Given the description of an element on the screen output the (x, y) to click on. 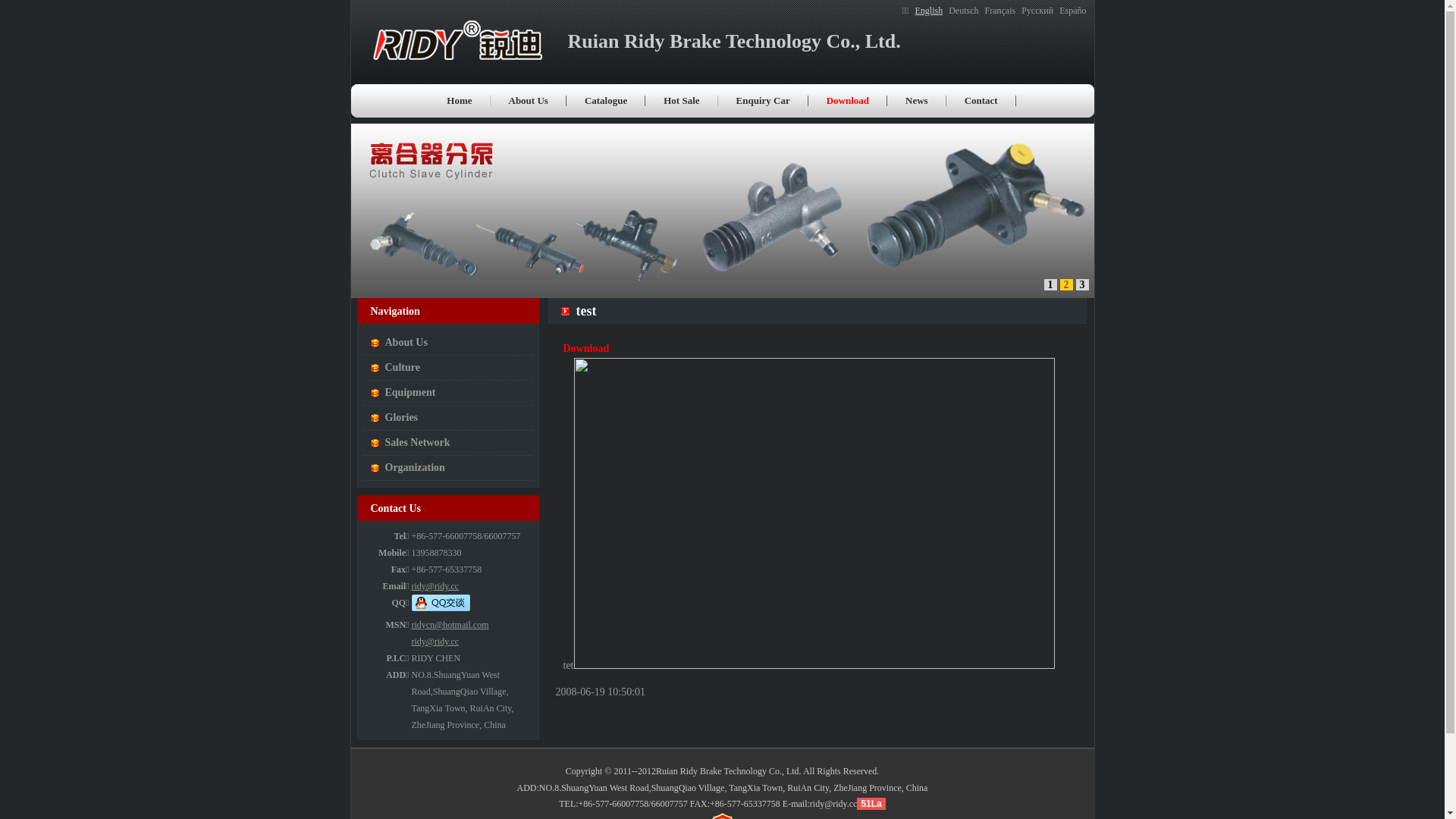
ridycn@hotmail.com Element type: text (449, 624)
About Us Element type: text (448, 342)
Contact Element type: text (981, 100)
51La Element type: text (870, 803)
3 Element type: text (1081, 284)
About Us Element type: text (527, 100)
Catalogue Element type: text (605, 100)
1 Element type: text (1049, 284)
Organization Element type: text (448, 467)
Equipment Element type: text (448, 392)
English Element type: text (929, 10)
Home Element type: text (458, 100)
Deutsch Element type: text (963, 10)
Download Element type: text (585, 348)
Download Element type: text (847, 100)
2 Element type: text (1066, 284)
Hot Sale Element type: text (681, 100)
Glories Element type: text (448, 417)
Enquiry Car Element type: text (763, 100)
ridy@ridy.cc Element type: text (434, 641)
Culture Element type: text (448, 367)
ridy@ridy.cc Element type: text (434, 585)
Sales Network Element type: text (448, 442)
News Element type: text (916, 100)
